Given the description of an element on the screen output the (x, y) to click on. 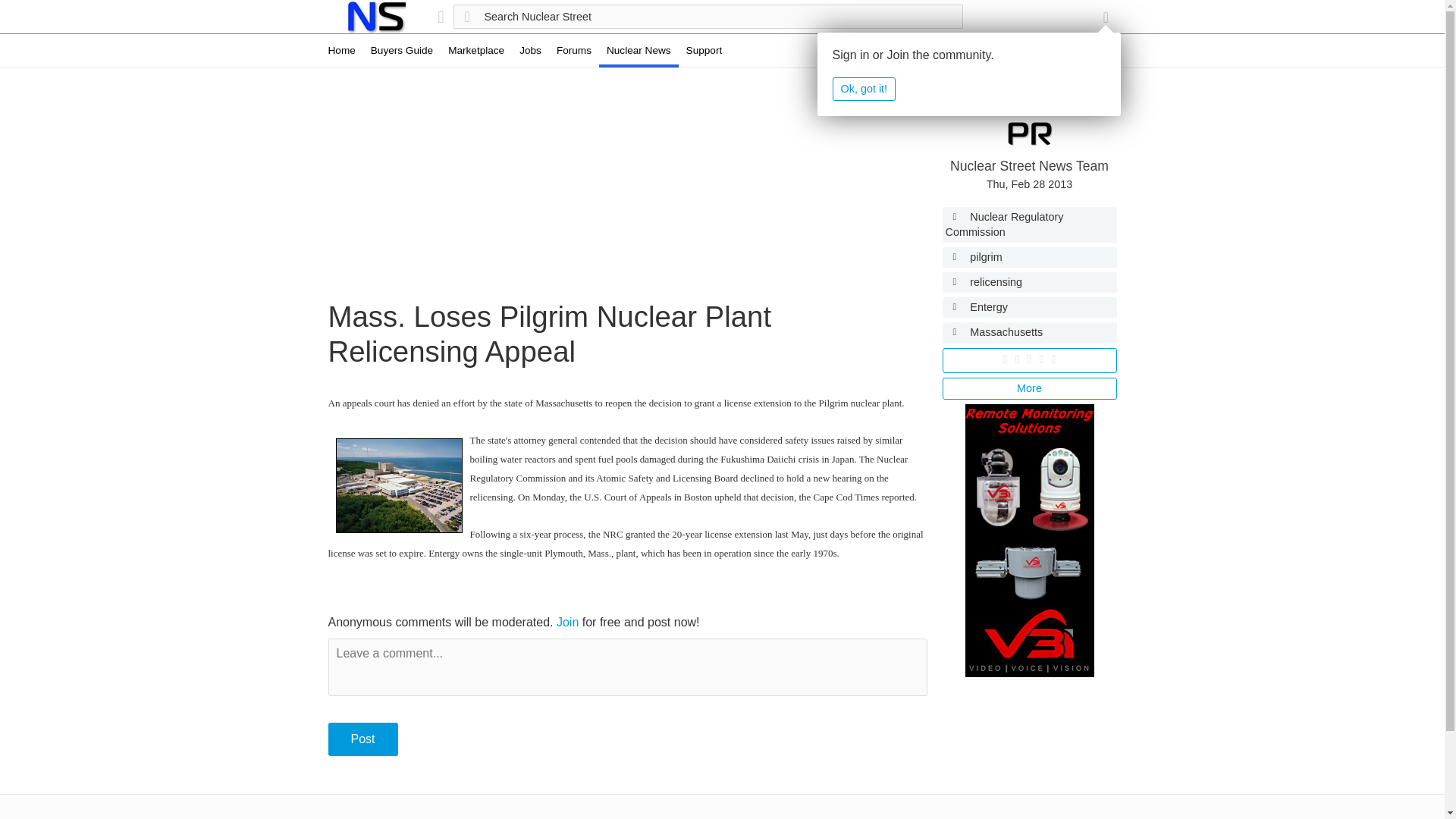
Home (374, 16)
Nuclear Street News Team (1029, 165)
Home (344, 50)
User (1105, 17)
More (1029, 388)
Average rating: 0 out of 0 ratings. (1028, 359)
Forums (573, 50)
Marketplace (476, 50)
relicensing (1029, 281)
Join or Sign In (1105, 17)
Join Nuclear Street (567, 622)
Buyers Guide (401, 50)
Jobs (530, 50)
Nuclear News (638, 50)
Site (440, 17)
